Given the description of an element on the screen output the (x, y) to click on. 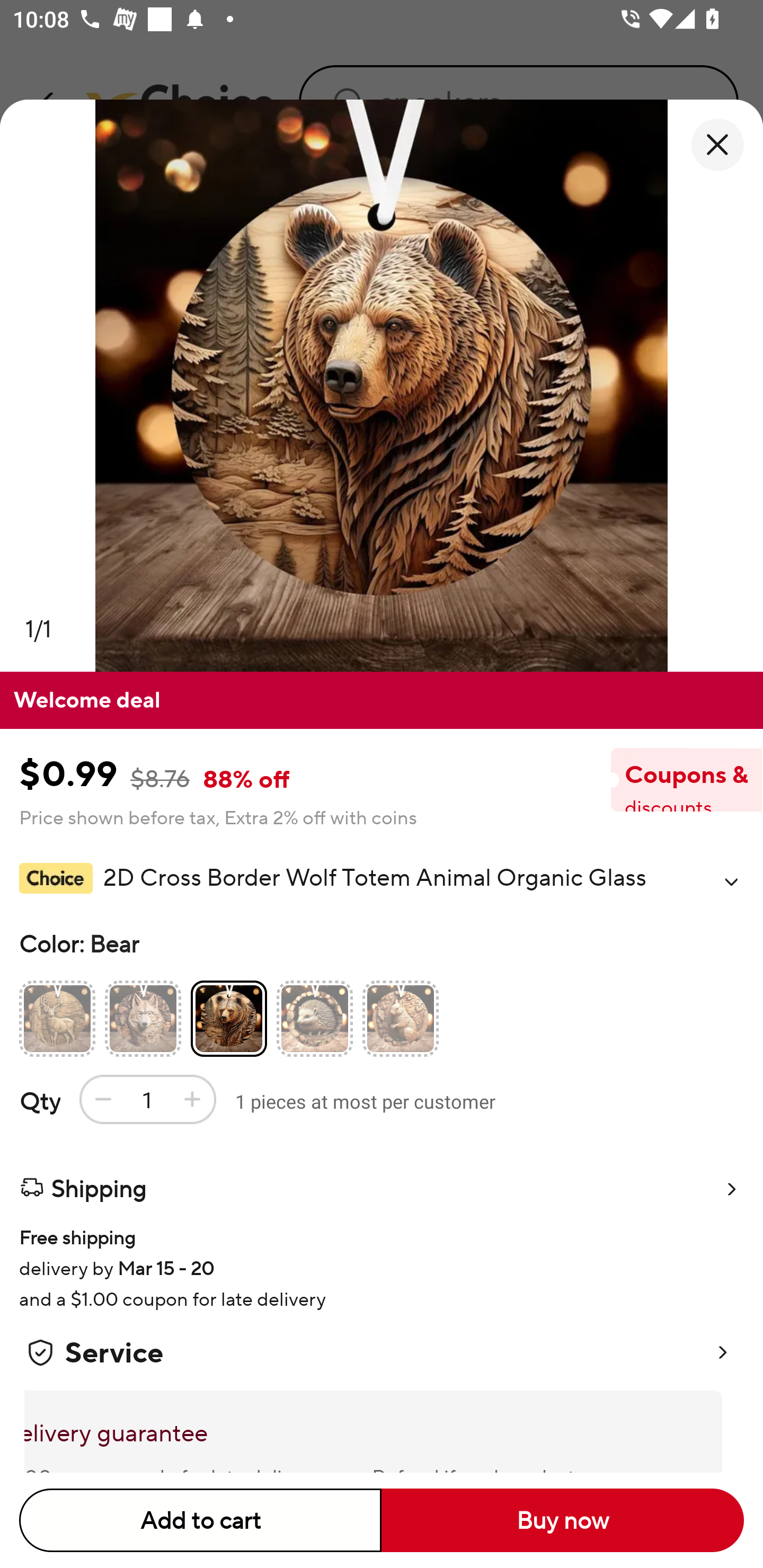
close  (717, 144)
 (730, 881)
Add to cart (200, 1520)
Buy now (562, 1520)
